Given the description of an element on the screen output the (x, y) to click on. 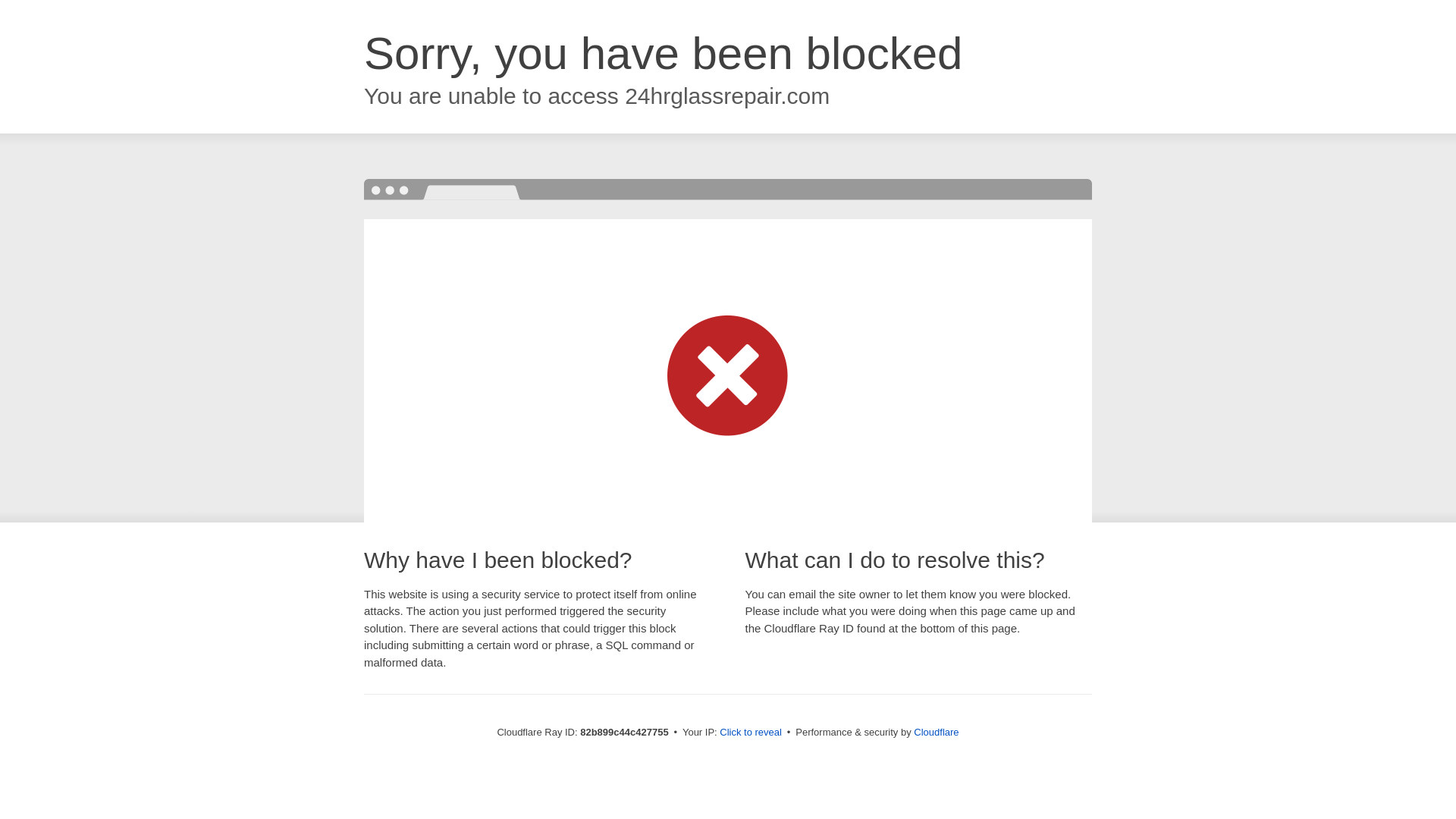
Click to reveal Element type: text (750, 732)
Cloudflare Element type: text (935, 731)
